Given the description of an element on the screen output the (x, y) to click on. 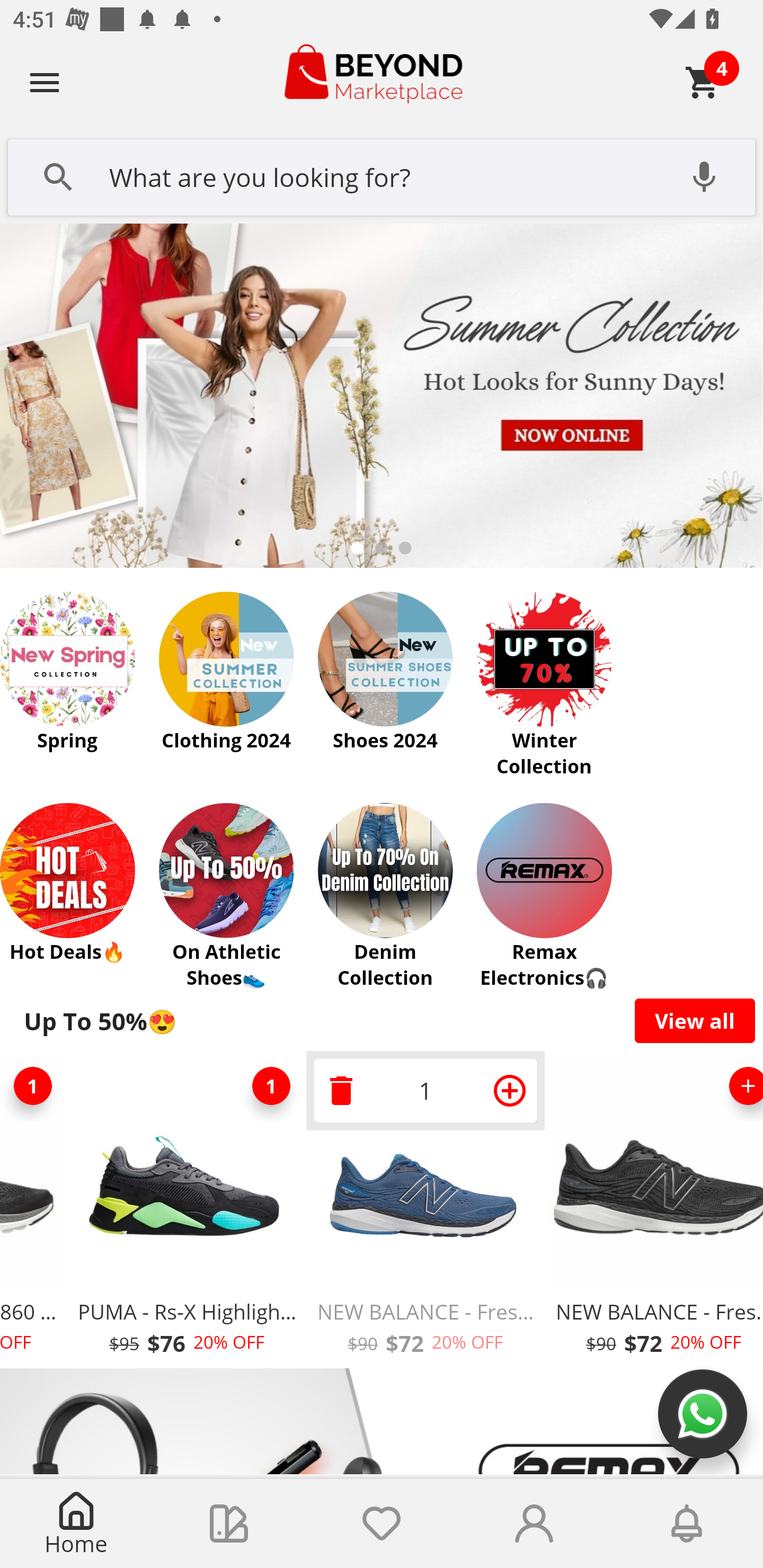
Navigate up (44, 82)
What are you looking for? (381, 175)
View all (694, 1020)
1 (33, 1085)
1 (270, 1085)
1 (424, 1090)
Collections (228, 1523)
Wishlist (381, 1523)
Account (533, 1523)
Notifications (686, 1523)
